Given the description of an element on the screen output the (x, y) to click on. 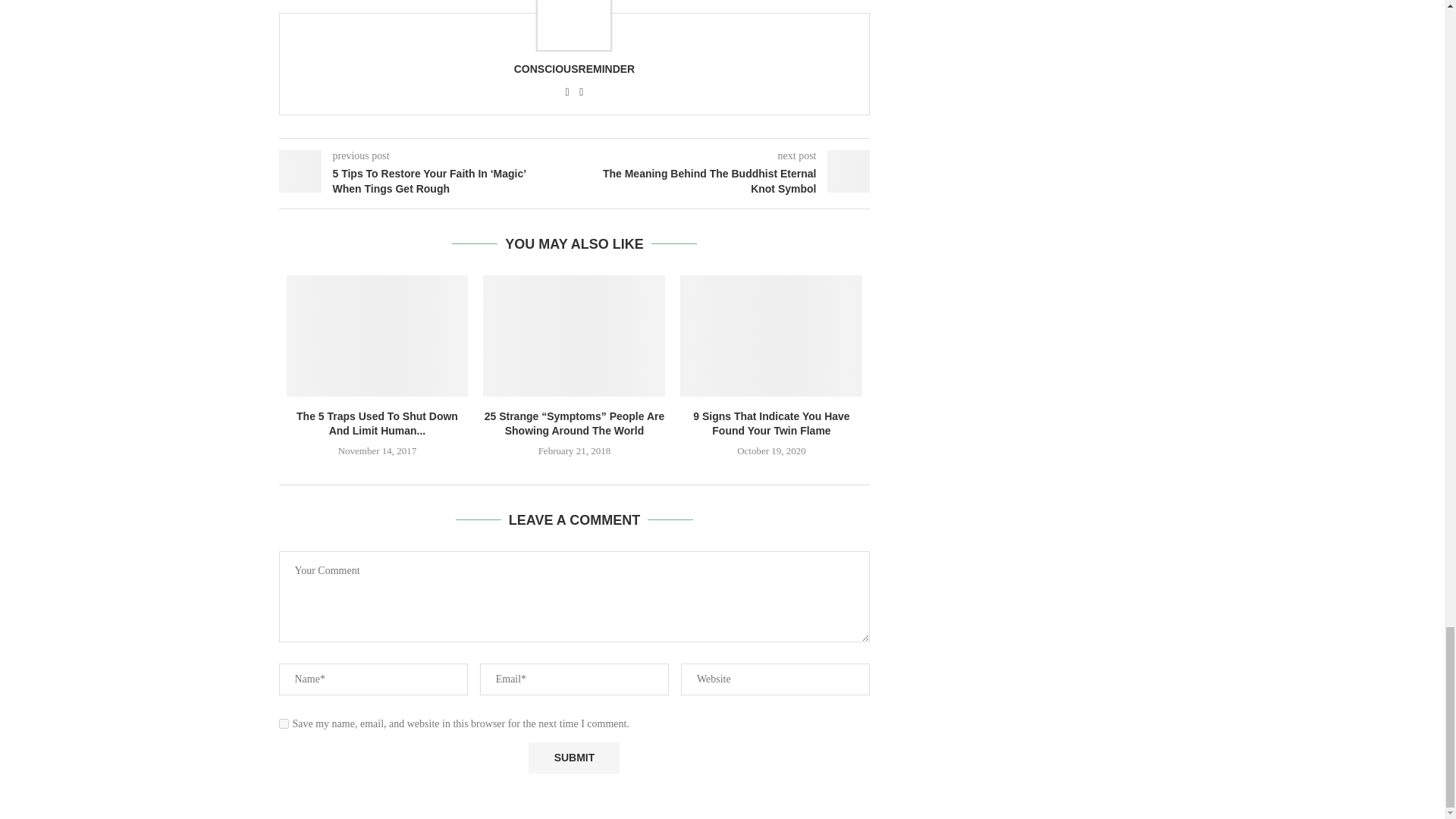
The 5 Traps Used To Shut Down And Limit Human Consciousness (377, 335)
9 Signs That Indicate You Have Found Your Twin Flame (770, 335)
Submit (574, 757)
Author consciousreminder (573, 69)
yes (283, 723)
